Given the description of an element on the screen output the (x, y) to click on. 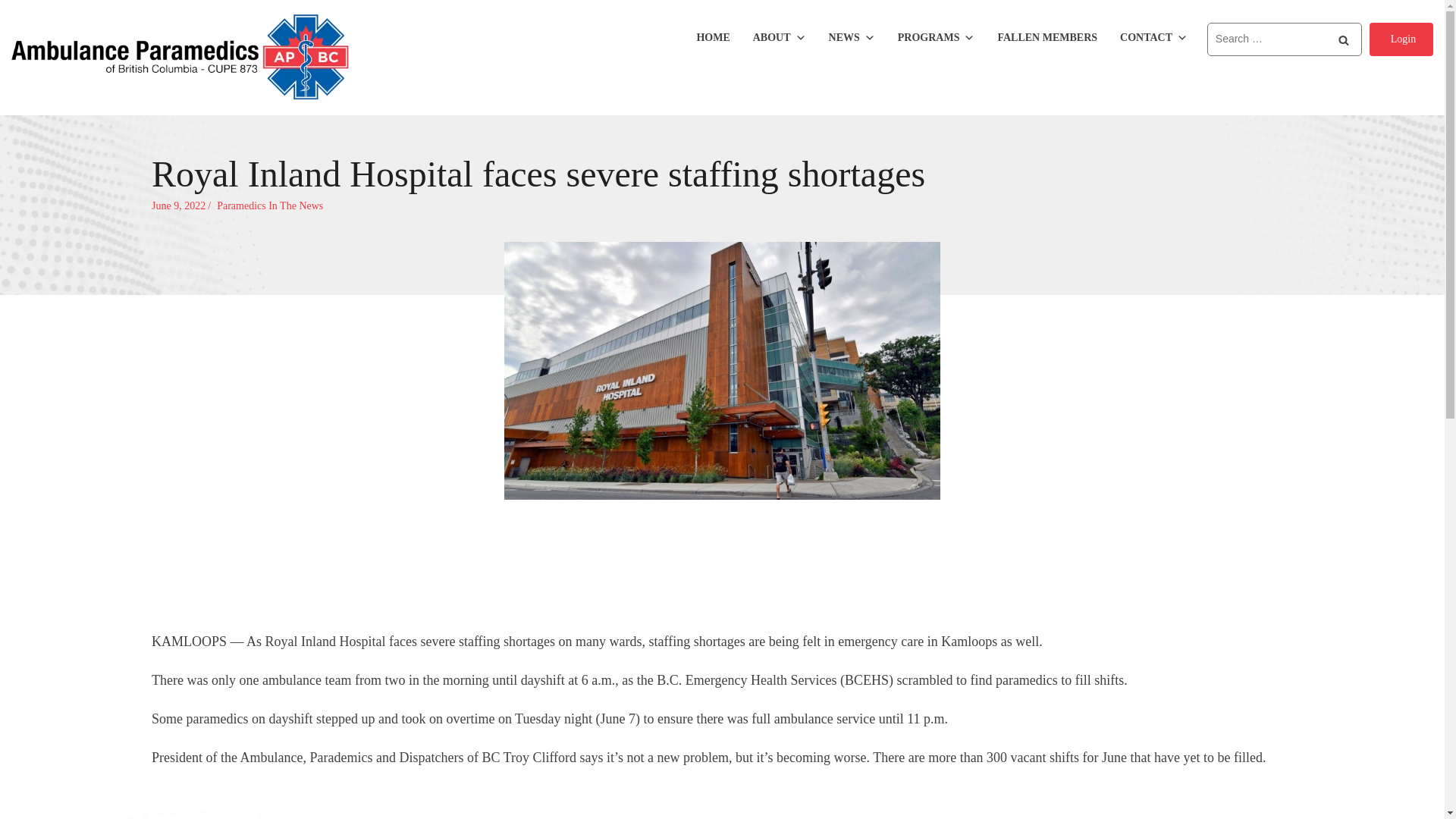
PROGRAMS (935, 37)
HOME (712, 37)
ABOUT (779, 37)
NEWS (851, 37)
